Given the description of an element on the screen output the (x, y) to click on. 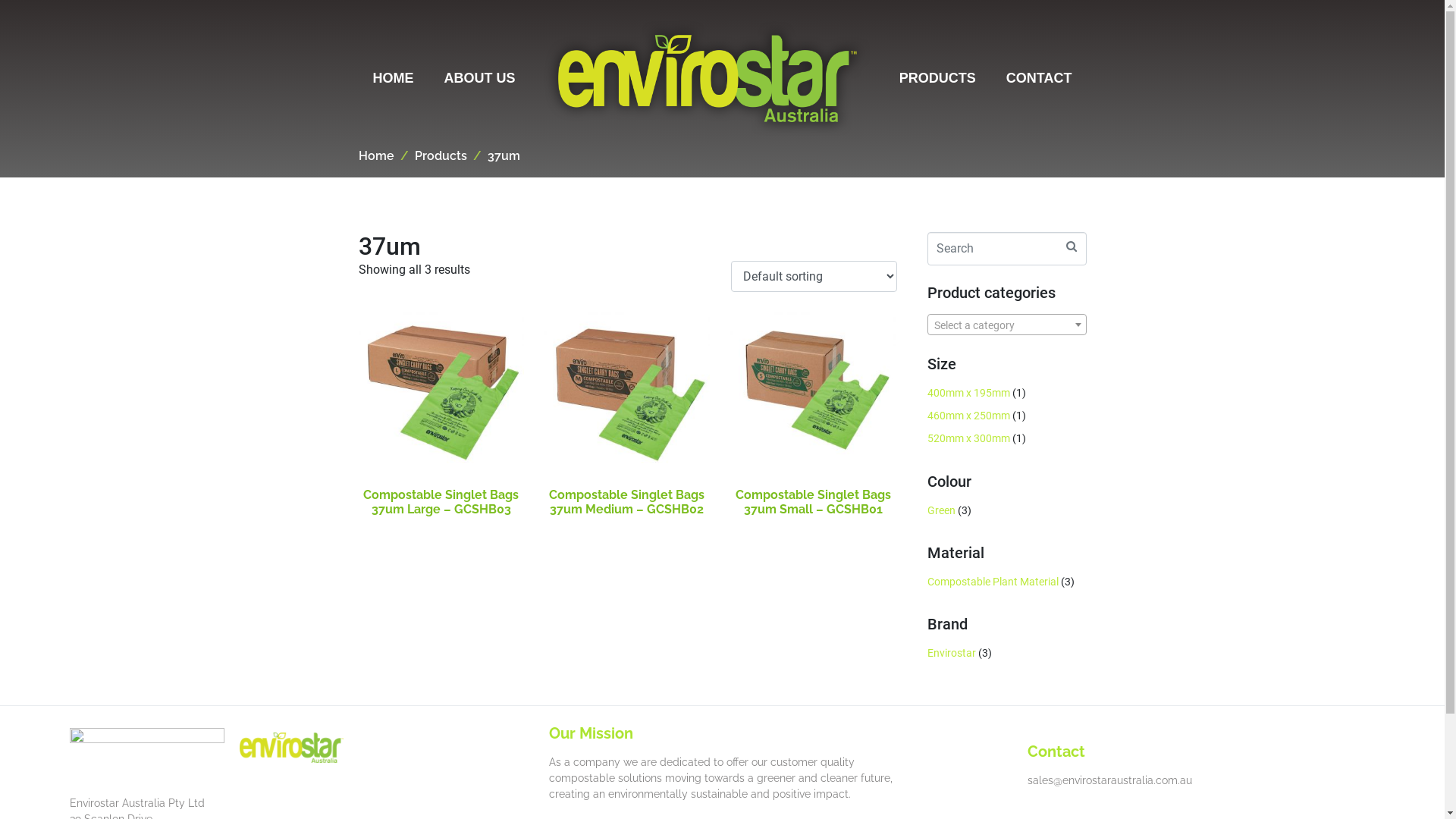
400mm x 195mm Element type: text (967, 391)
Compostable Plant Material Element type: text (991, 581)
CONTACT Element type: text (1039, 78)
PRODUCTS Element type: text (937, 78)
Products Element type: text (440, 155)
Green Element type: text (940, 510)
HOME Element type: text (393, 78)
460mm x 250mm Element type: text (967, 415)
Envirostar Element type: text (950, 652)
520mm x 300mm Element type: text (967, 438)
Home Element type: text (375, 155)
ABOUT US Element type: text (479, 78)
